Given the description of an element on the screen output the (x, y) to click on. 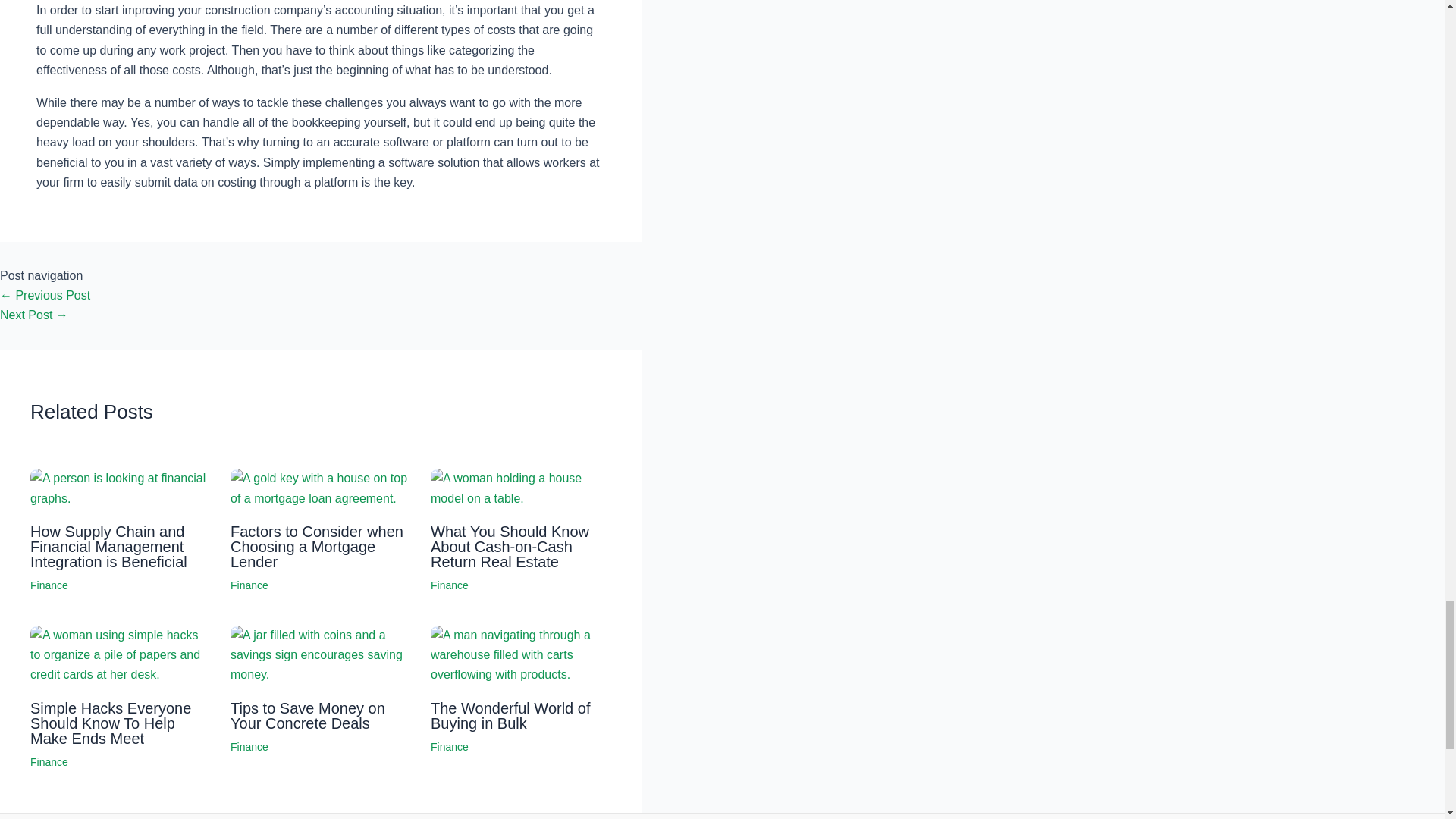
10 Color Option that will Give Your Room a Larger Look (34, 314)
Top Reasons You Should Use Wooden Deck Plugs (45, 295)
